Given the description of an element on the screen output the (x, y) to click on. 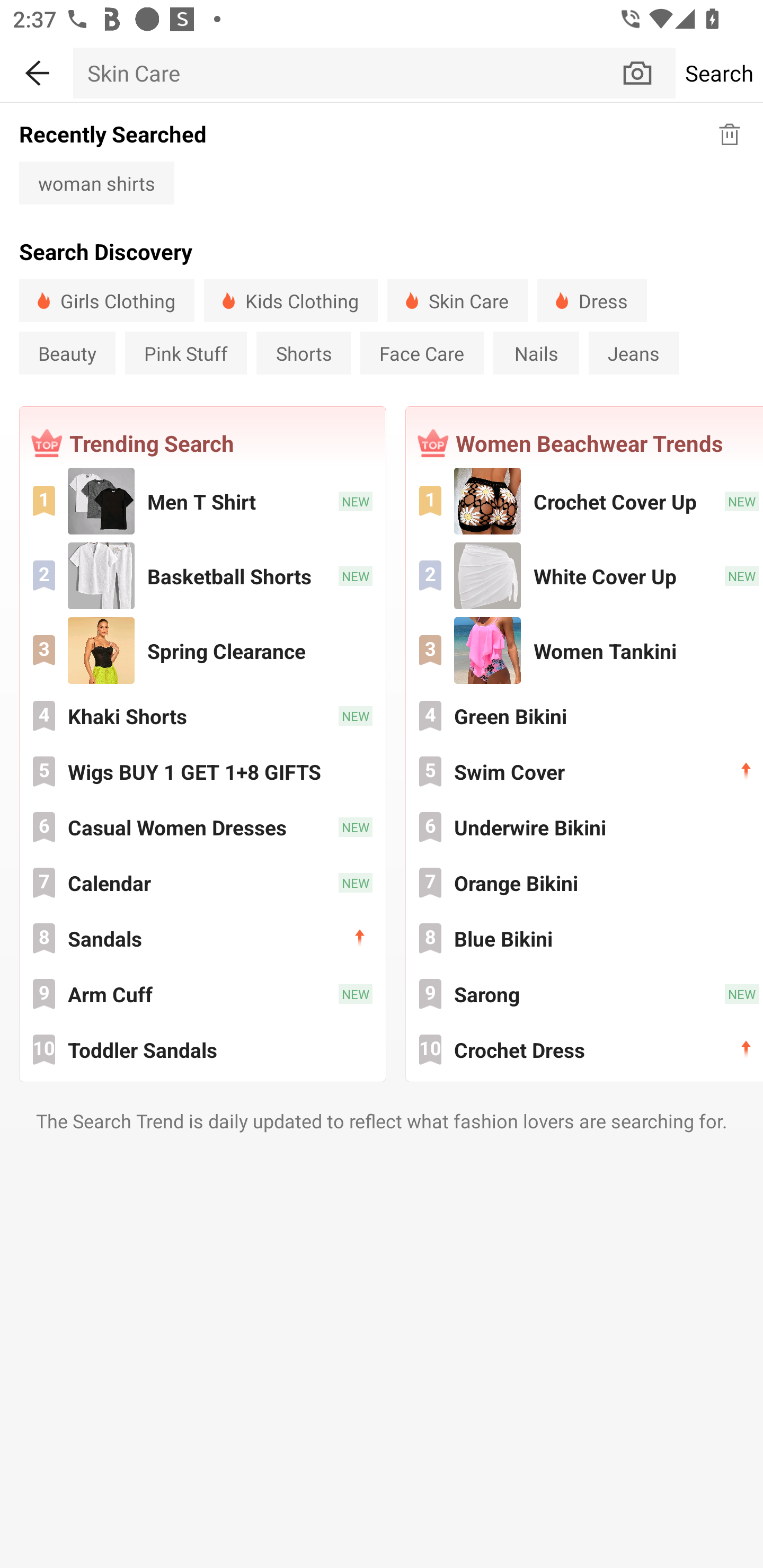
BACK (36, 69)
Skin Care (346, 72)
Search (719, 72)
Recently Searched woman shirts woman shirts (381, 162)
woman shirts (96, 182)
Girls Clothing (106, 300)
Kids Clothing (290, 300)
Skin Care (457, 300)
Dress (592, 300)
Beauty (67, 352)
Pink Stuff (186, 352)
Shorts (303, 352)
Face Care (421, 352)
Nails (536, 352)
Jeans (634, 352)
Men T Shirt 1 Men T Shirt NEW (202, 500)
Crochet Cover Up 1 Crochet Cover Up NEW (584, 500)
Basketball Shorts 2 Basketball Shorts NEW (202, 575)
White Cover Up 2 White Cover Up NEW (584, 575)
Spring Clearance 3 Spring Clearance (202, 650)
Women Tankini 3 Women Tankini (584, 650)
Khaki Shorts 4 Khaki Shorts NEW (202, 715)
Green Bikini 4 Green Bikini (584, 715)
Swim Cover 5 Swim Cover (584, 770)
Casual Women Dresses 6 Casual Women Dresses NEW (202, 826)
Underwire Bikini 6 Underwire Bikini (584, 826)
Calendar 7 Calendar NEW (202, 882)
Orange Bikini 7 Orange Bikini (584, 882)
Sandals 8 Sandals (202, 938)
Blue Bikini 8 Blue Bikini (584, 938)
Arm Cuff 9 Arm Cuff NEW (202, 993)
Sarong 9 Sarong NEW (584, 993)
Toddler Sandals 10 Toddler Sandals (202, 1048)
Crochet Dress 10 Crochet Dress (584, 1048)
